Given the description of an element on the screen output the (x, y) to click on. 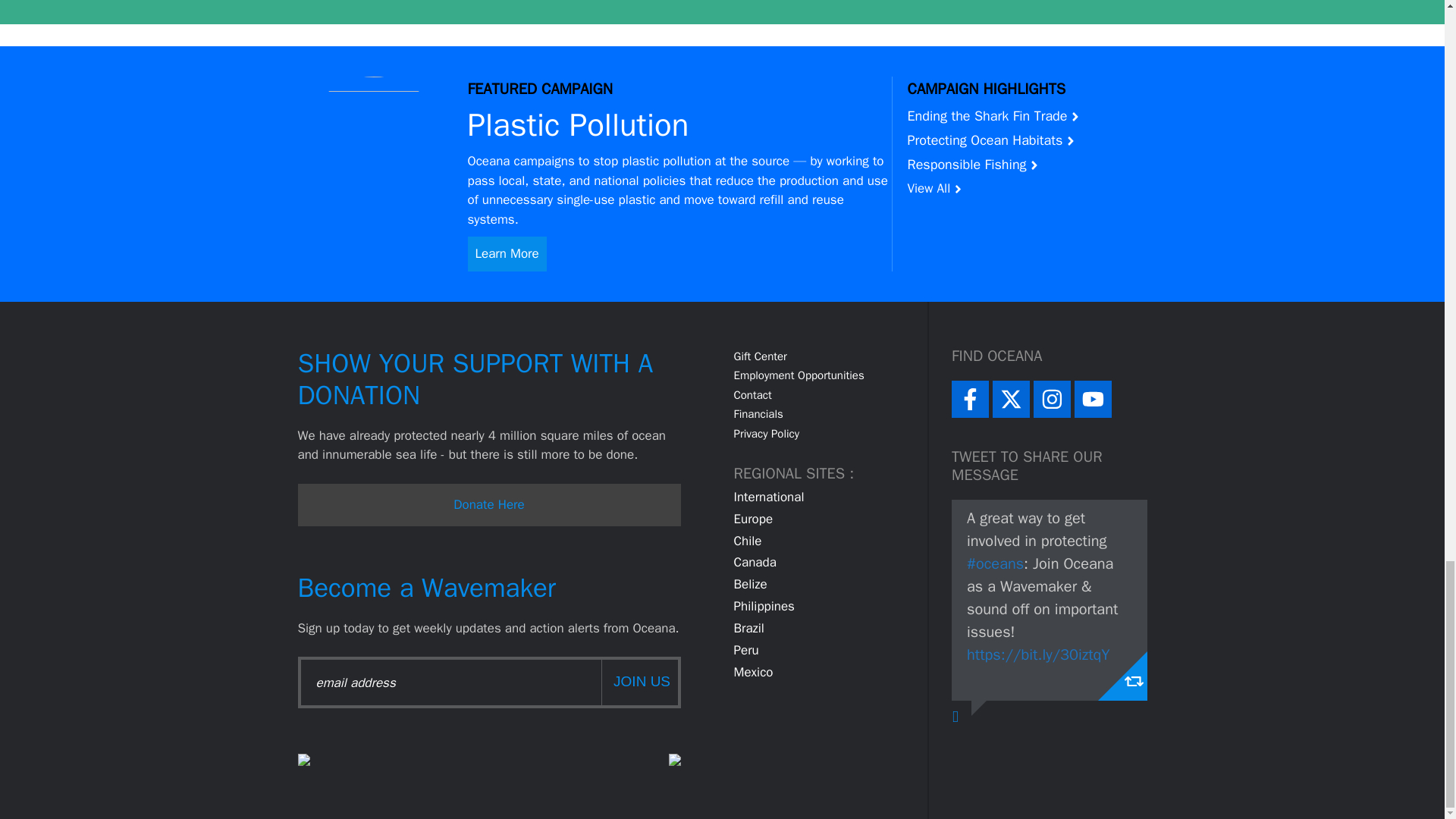
JOIN US (639, 682)
